Given the description of an element on the screen output the (x, y) to click on. 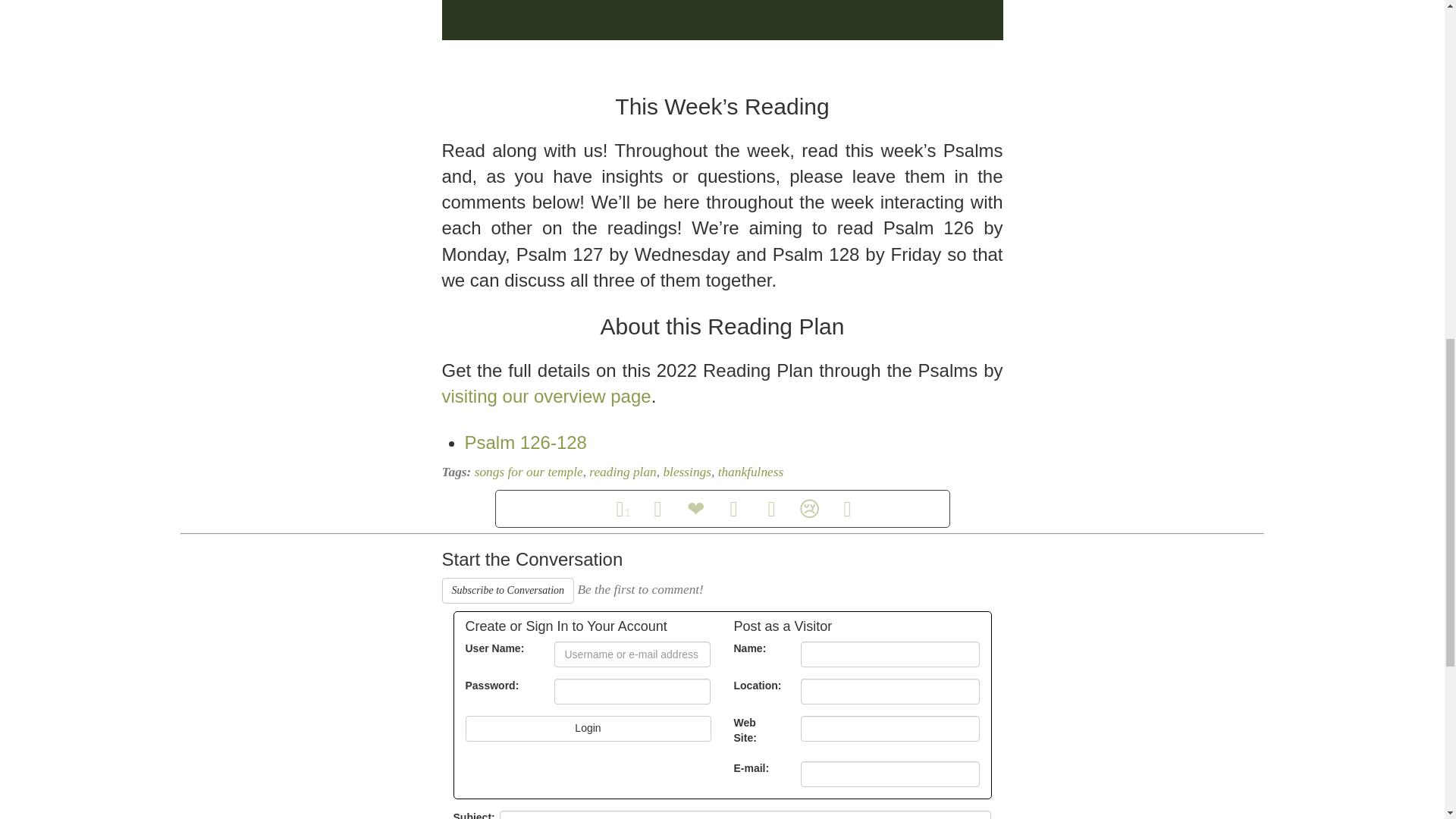
Subscribe to Conversation (507, 590)
visiting our overview page (545, 395)
thankfulness (750, 472)
Psalm 126-128 (525, 442)
Login (588, 728)
Login (588, 728)
songs for our temple (528, 472)
reading plan (622, 472)
blessings (686, 472)
